Given the description of an element on the screen output the (x, y) to click on. 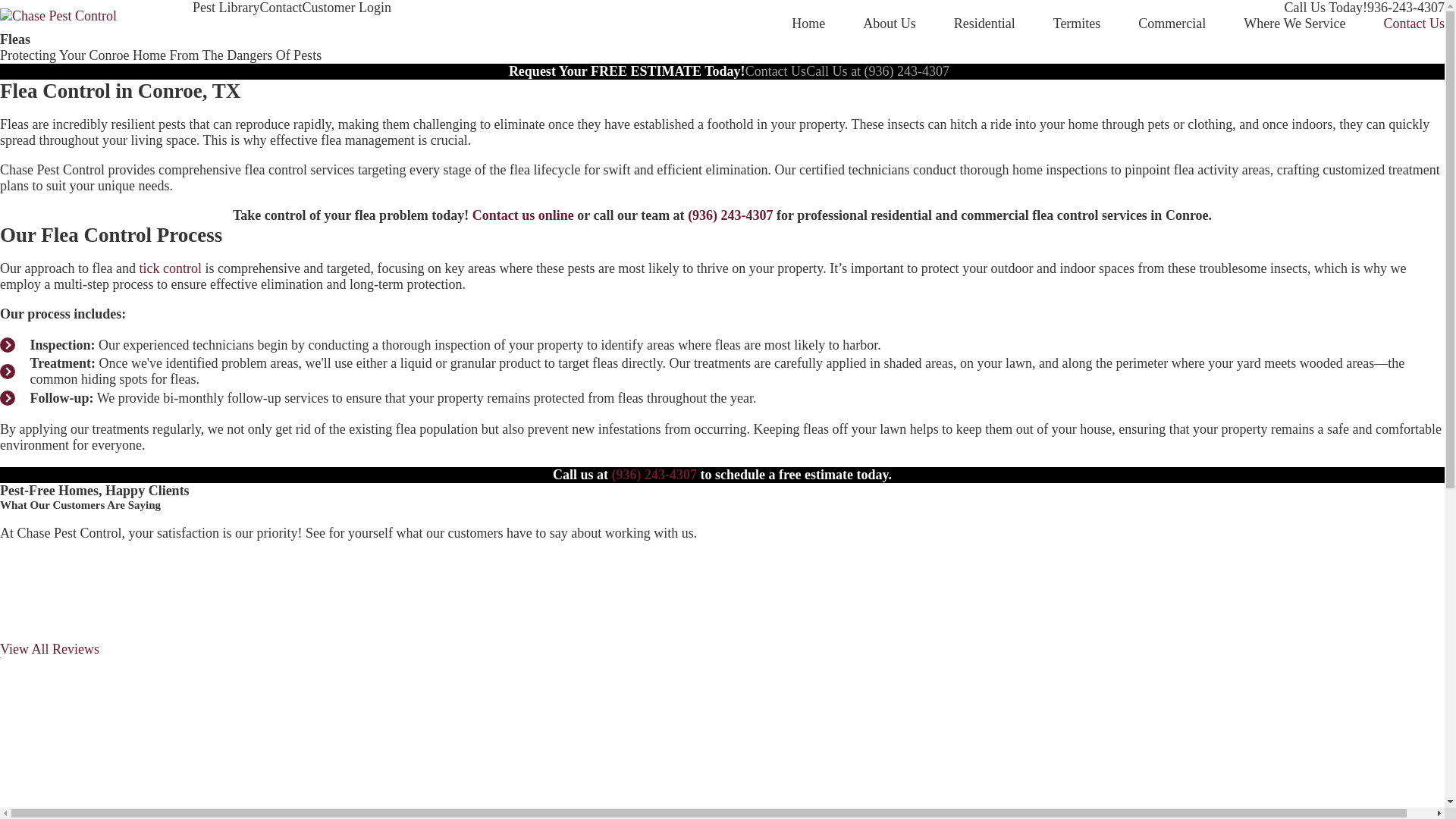
Customer Login (346, 7)
Contact (280, 7)
Commercial (1171, 23)
Residential (983, 23)
936-243-4307 (1405, 7)
About Us (889, 23)
Pest Library (225, 7)
Where We Service (1294, 23)
Termites (1076, 23)
Home (808, 23)
Home (58, 15)
